Given the description of an element on the screen output the (x, y) to click on. 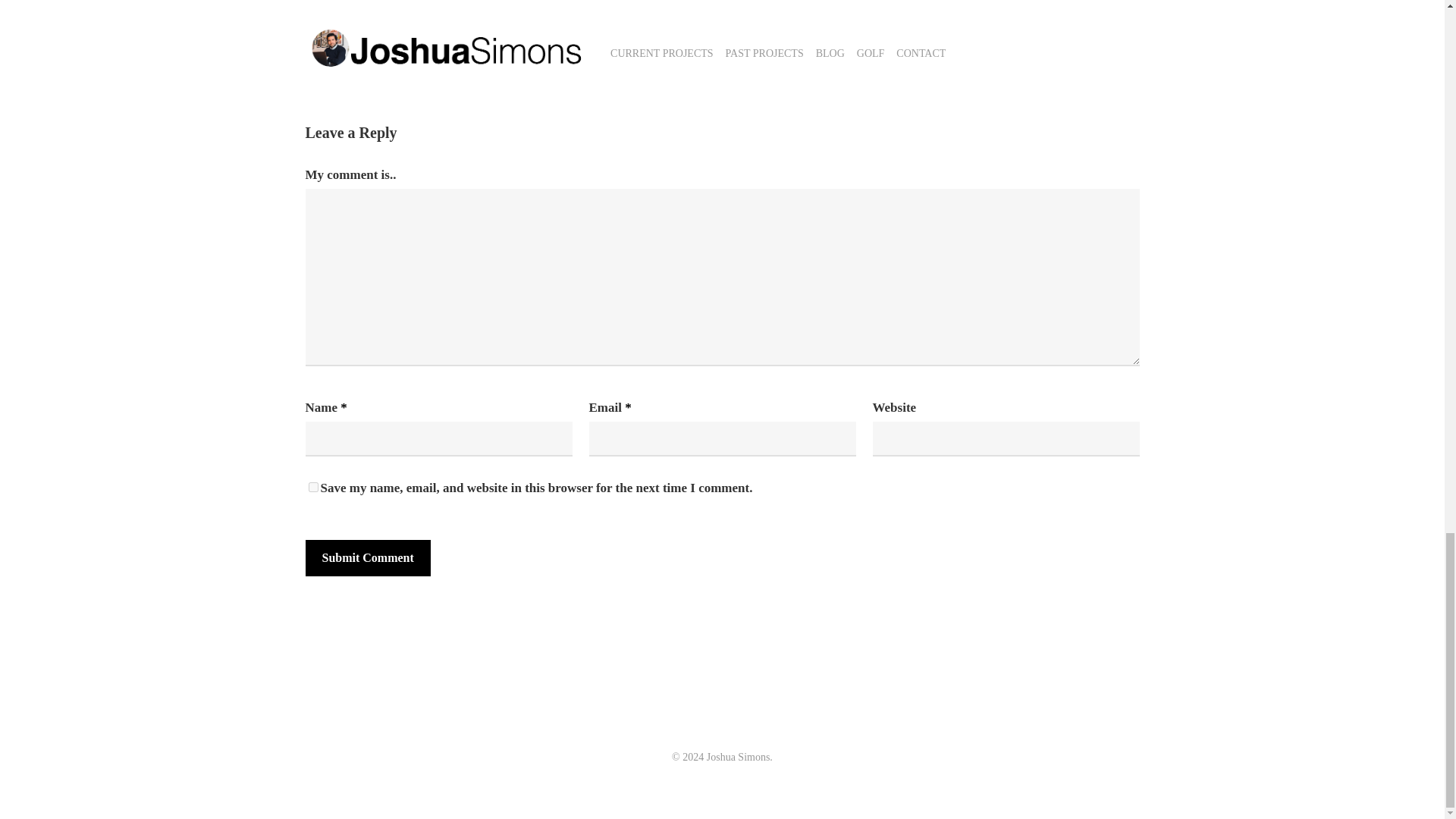
Submit Comment (366, 557)
yes (312, 487)
Submit Comment (366, 557)
